Given the description of an element on the screen output the (x, y) to click on. 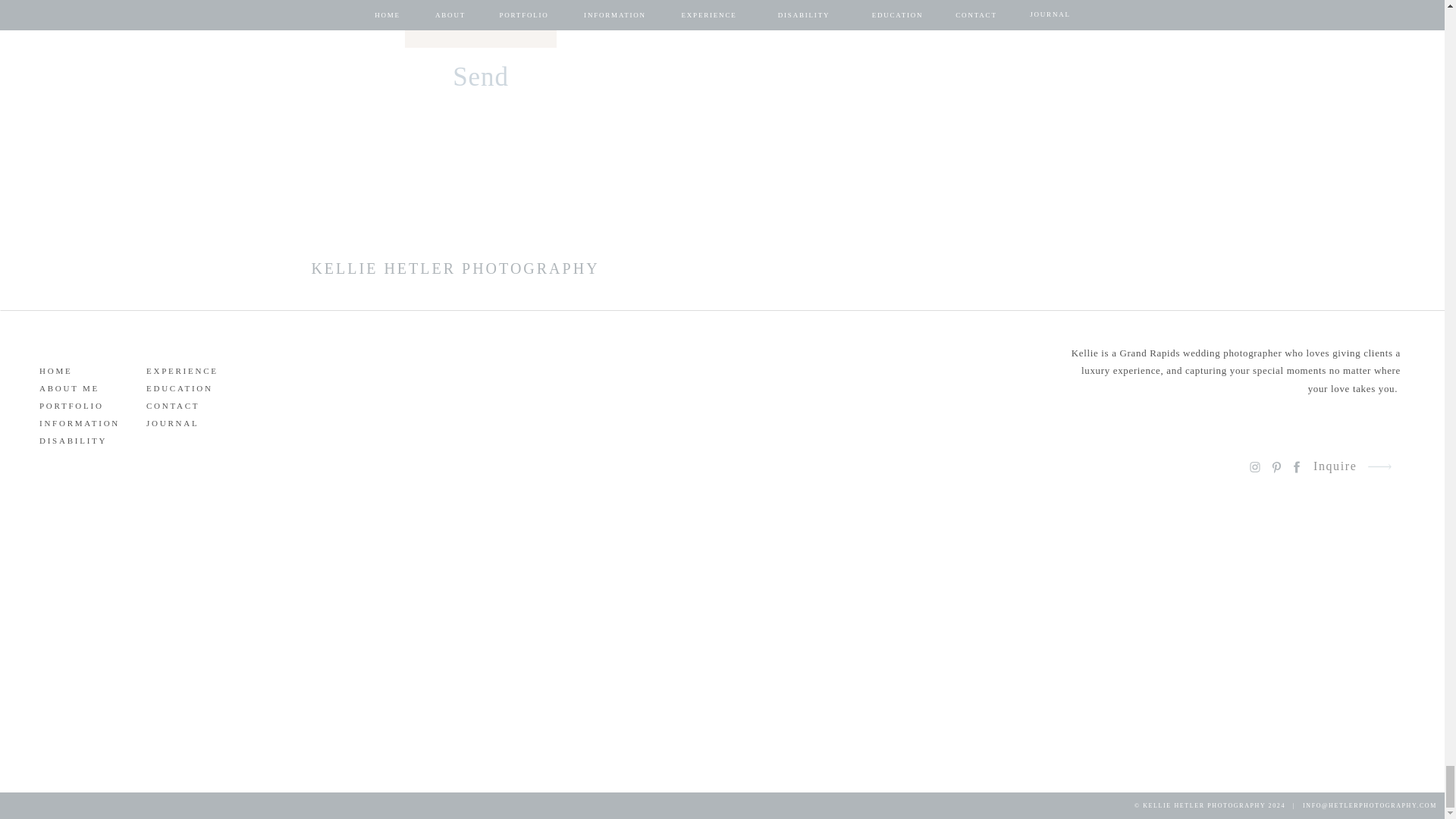
arrow (1379, 466)
